Given the description of an element on the screen output the (x, y) to click on. 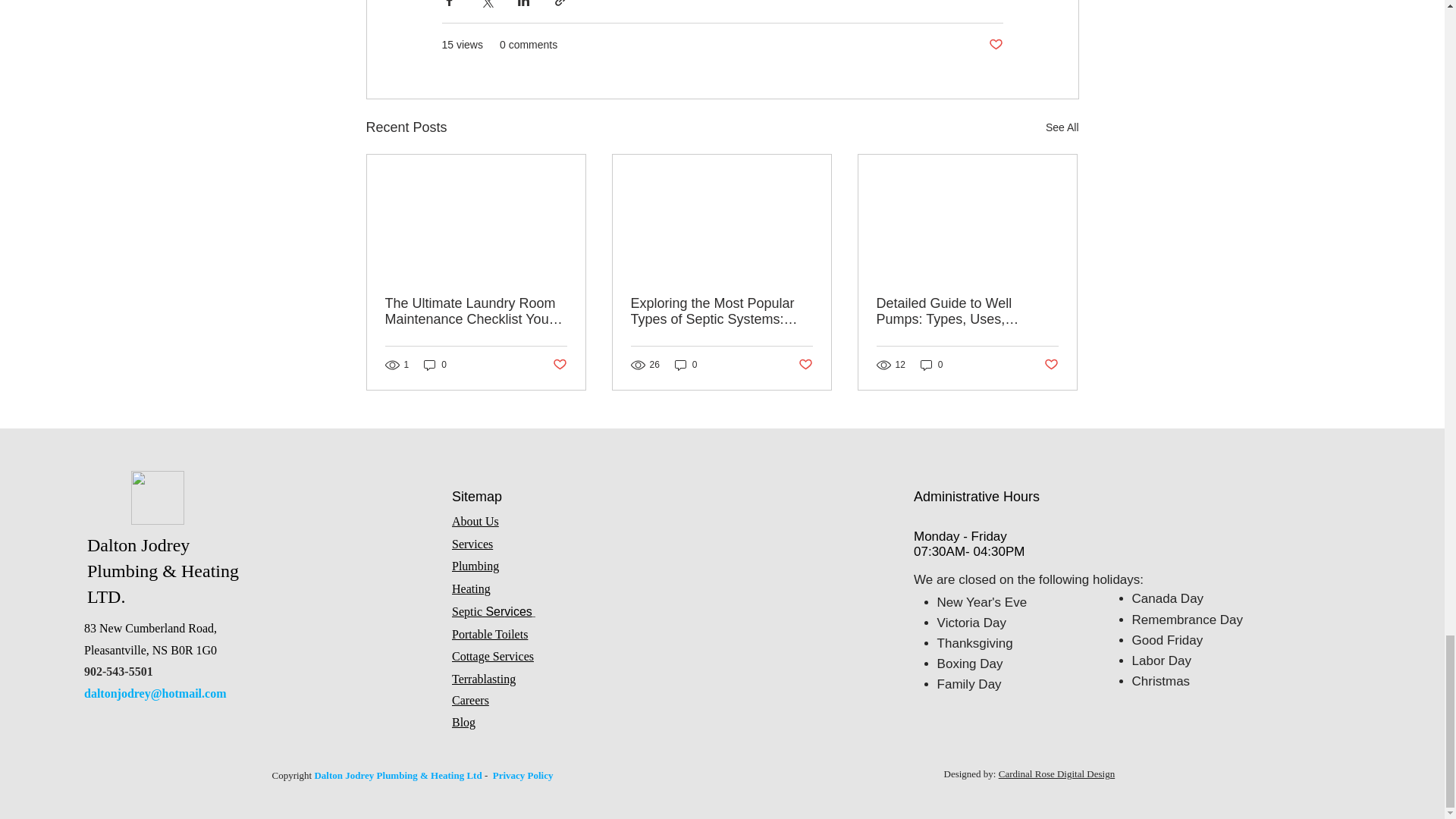
See All (1061, 127)
Post not marked as liked (995, 44)
logo.png (157, 497)
0 (685, 364)
0 (435, 364)
Post not marked as liked (558, 365)
0 (931, 364)
Post not marked as liked (1050, 365)
